Given the description of an element on the screen output the (x, y) to click on. 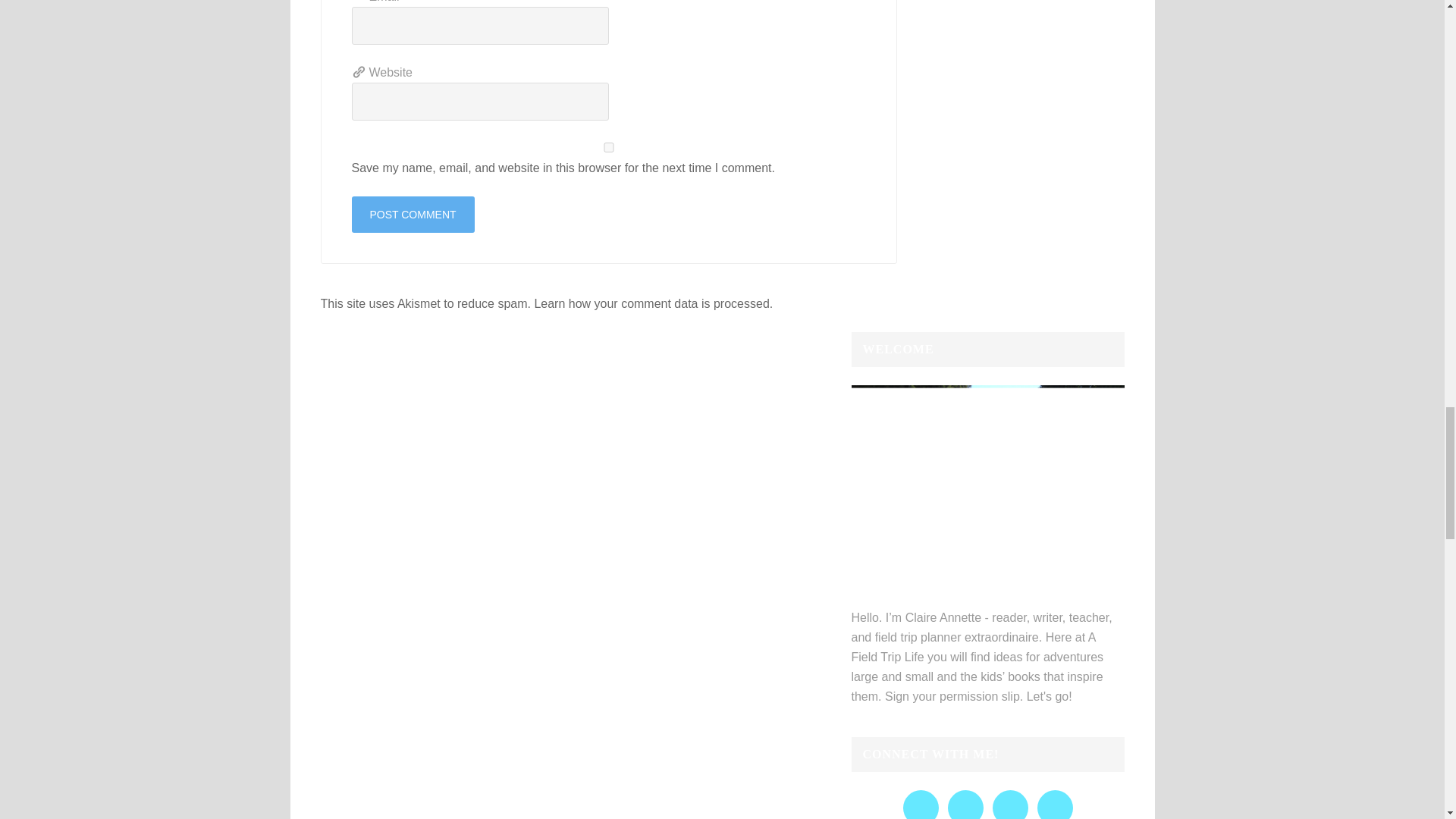
Post Comment (413, 214)
yes (609, 147)
Learn how your comment data is processed (651, 303)
Post Comment (413, 214)
